Given the description of an element on the screen output the (x, y) to click on. 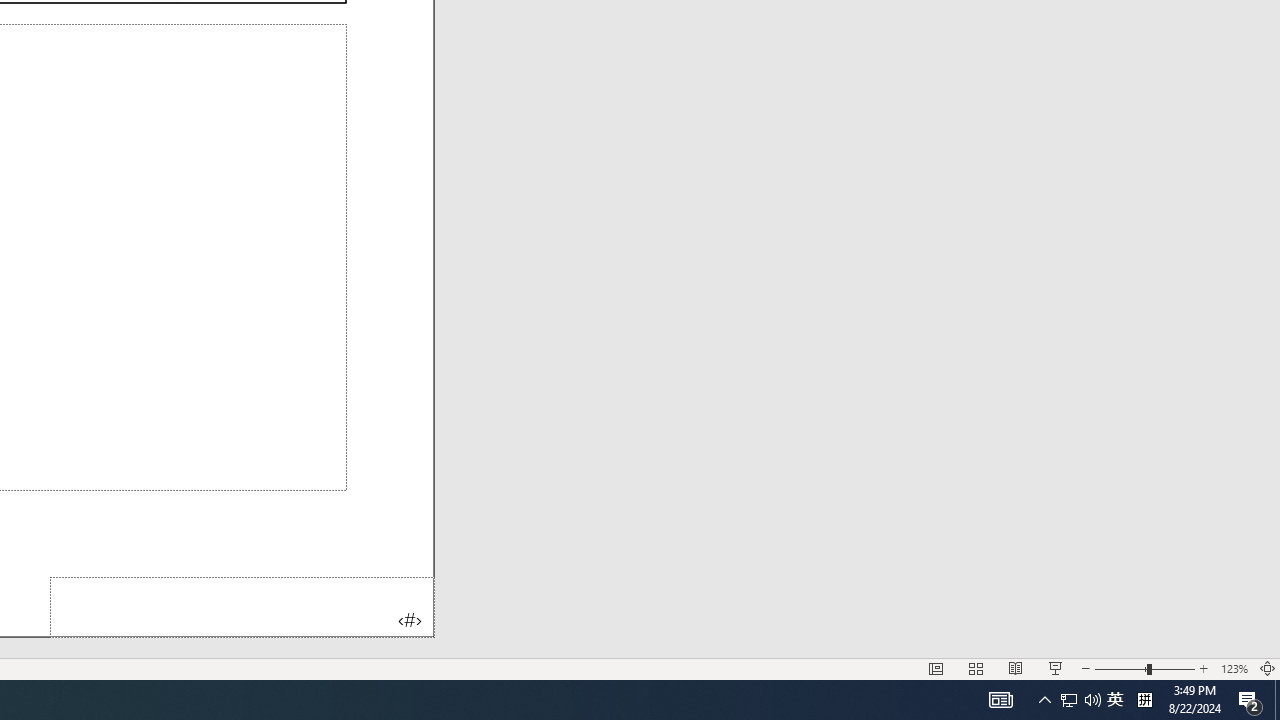
Page Number (242, 606)
